Given the description of an element on the screen output the (x, y) to click on. 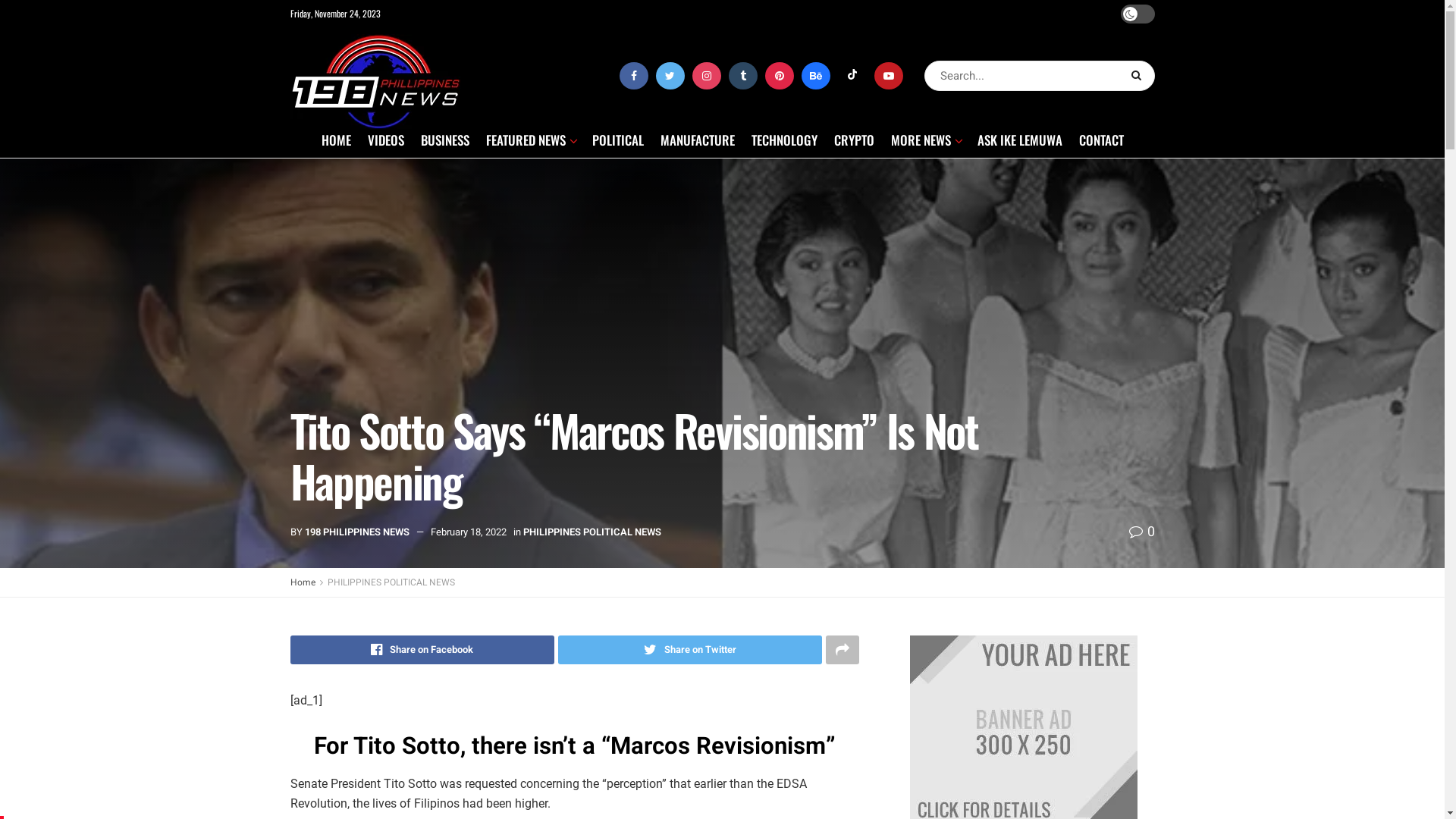
PHILIPPINES POLITICAL NEWS Element type: text (391, 582)
February 18, 2022 Element type: text (468, 531)
VIDEOS Element type: text (385, 139)
BUSINESS Element type: text (444, 139)
Home Element type: text (301, 582)
MORE NEWS Element type: text (925, 139)
HOME Element type: text (336, 139)
PHILIPPINES POLITICAL NEWS Element type: text (592, 531)
FEATURED NEWS Element type: text (529, 139)
TECHNOLOGY Element type: text (783, 139)
0 Element type: text (1141, 531)
POLITICAL Element type: text (617, 139)
CRYPTO Element type: text (854, 139)
Share on Twitter Element type: text (690, 649)
ASK IKE LEMUWA Element type: text (1018, 139)
CONTACT Element type: text (1100, 139)
198 PHILIPPINES NEWS Element type: text (356, 531)
MANUFACTURE Element type: text (696, 139)
Share on Facebook Element type: text (421, 649)
